Given the description of an element on the screen output the (x, y) to click on. 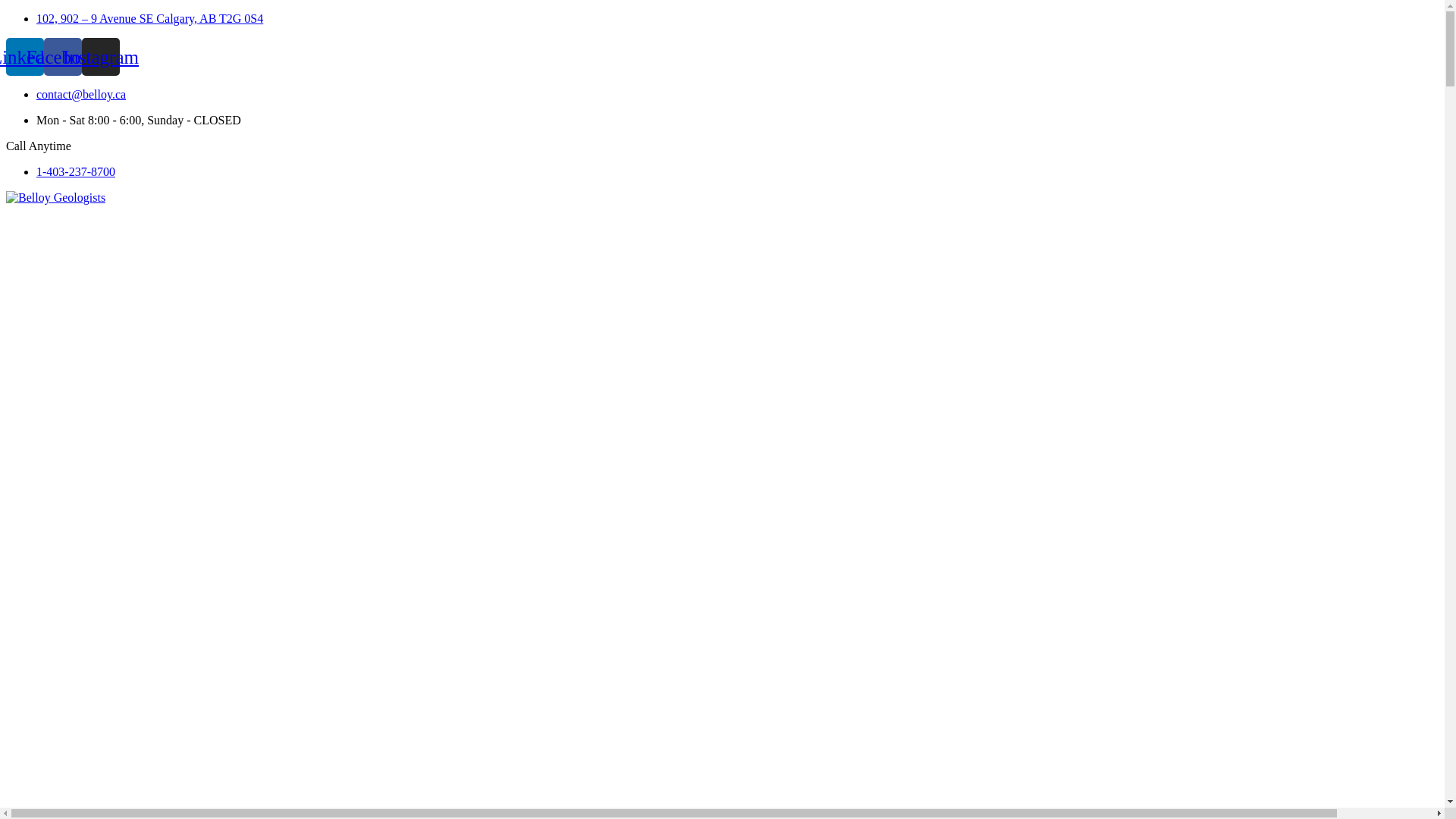
Facebook Element type: text (62, 56)
Linkedin Element type: text (24, 56)
Instagram Element type: text (100, 56)
contact@belloy.ca Element type: text (80, 93)
1-403-237-8700 Element type: text (75, 171)
